Given the description of an element on the screen output the (x, y) to click on. 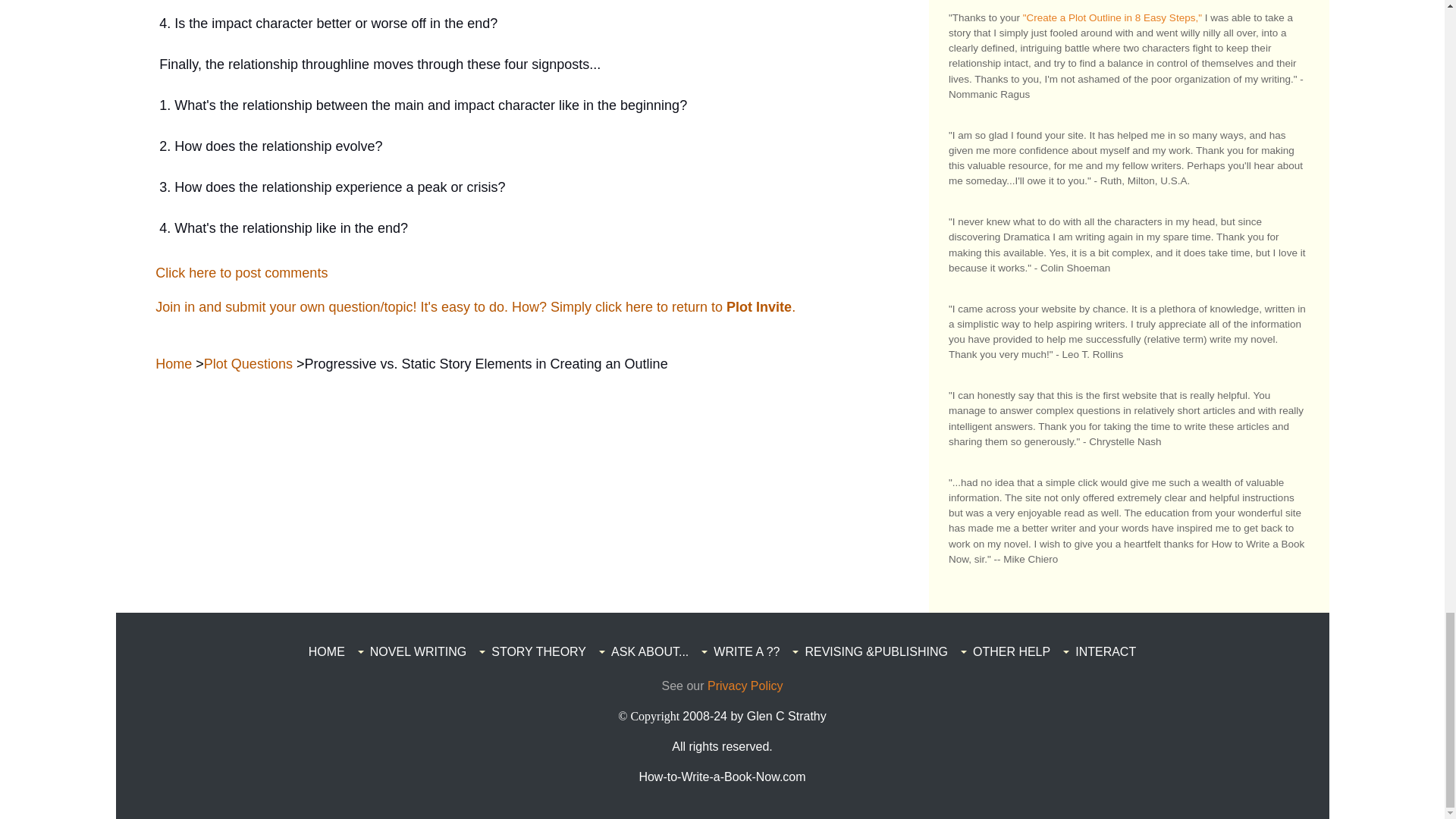
Plot Questions (247, 363)
Click here to post comments (241, 272)
Home (173, 363)
